Given the description of an element on the screen output the (x, y) to click on. 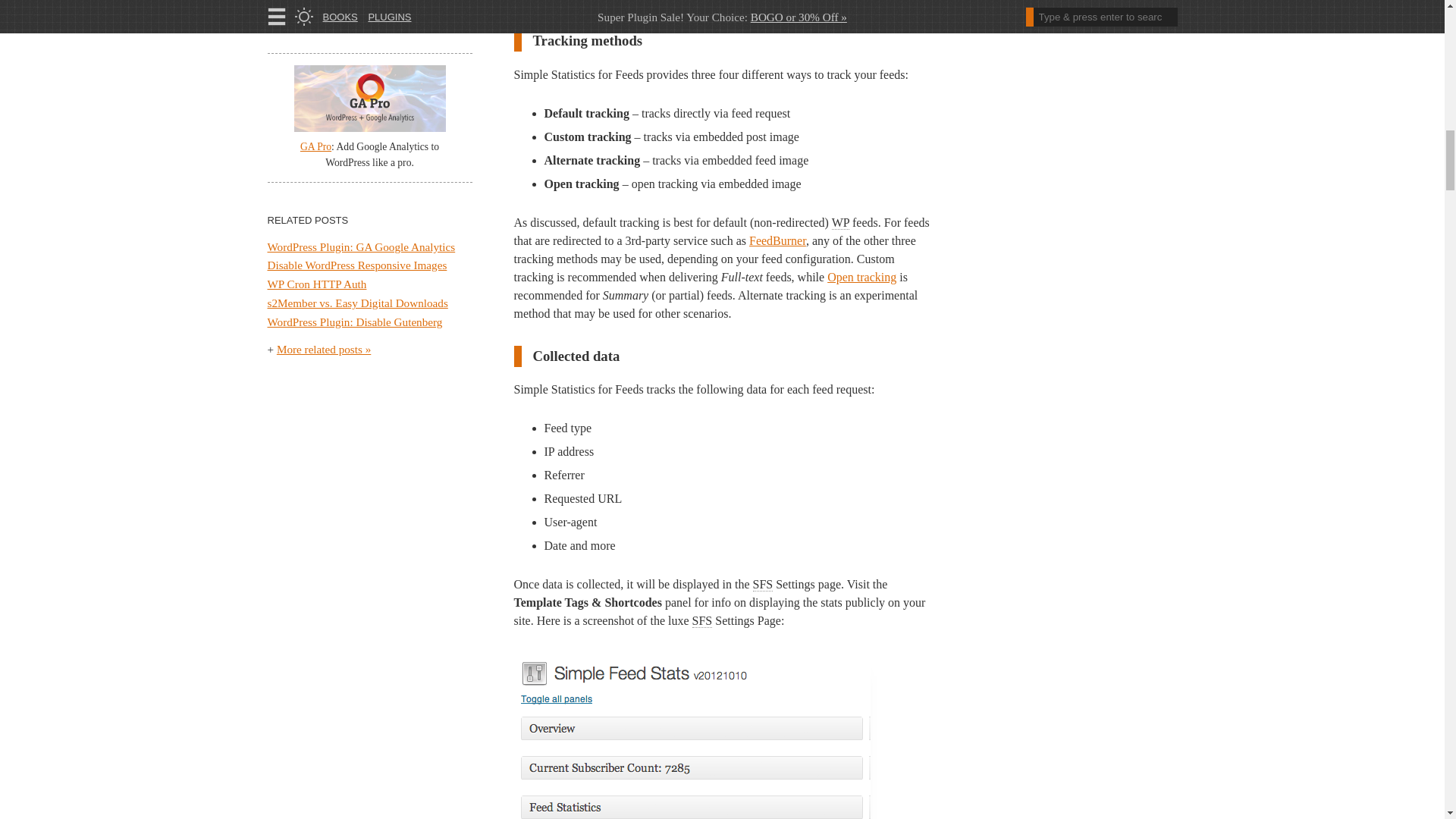
WordPress (839, 223)
FeedBurner (777, 240)
Simple Feeds Stats (762, 584)
SFS Open Tracking (861, 277)
Simple Feeds Stats (703, 621)
Open tracking (861, 277)
